Given the description of an element on the screen output the (x, y) to click on. 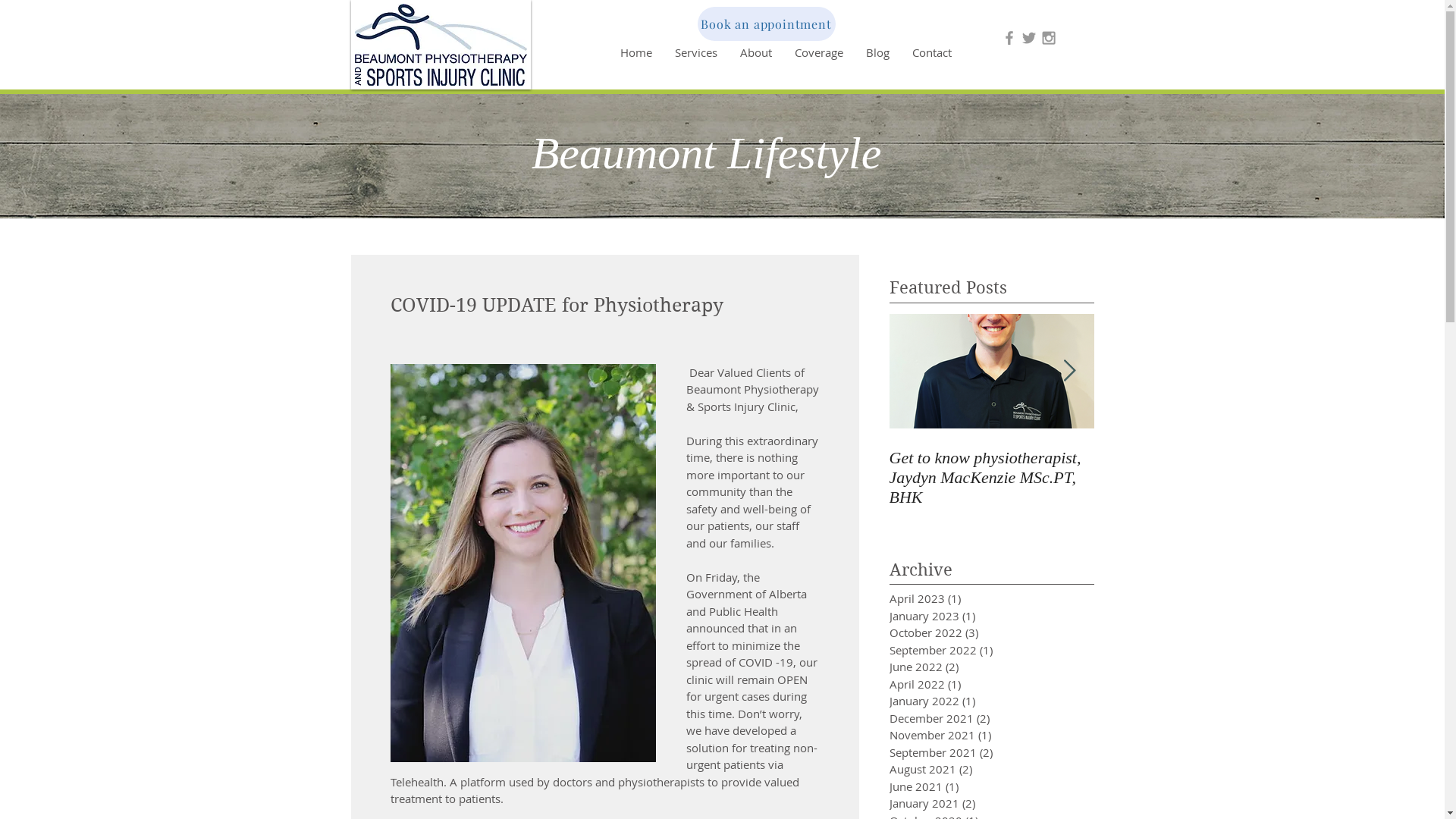
About Element type: text (755, 51)
Blog Element type: text (876, 51)
June 2021 (1) Element type: text (968, 786)
November 2021 (1) Element type: text (968, 734)
August 2021 (2) Element type: text (968, 769)
January 2021 (2) Element type: text (968, 803)
Get to know physiotherapist, Jaydyn MacKenzie MSc.PT, BHK Element type: text (990, 477)
Coverage Element type: text (817, 51)
April 2022 (1) Element type: text (968, 684)
January 2022 (1) Element type: text (968, 700)
December 2021 (2) Element type: text (968, 718)
Home Element type: text (635, 51)
January 2023 (1) Element type: text (968, 615)
Services Element type: text (695, 51)
June 2022 (2) Element type: text (968, 666)
October 2022 (3) Element type: text (968, 632)
April 2023 (1) Element type: text (968, 598)
September 2022 (1) Element type: text (968, 649)
Contact Element type: text (931, 51)
September 2021 (2) Element type: text (968, 752)
Book an appointment Element type: text (766, 23)
